Given the description of an element on the screen output the (x, y) to click on. 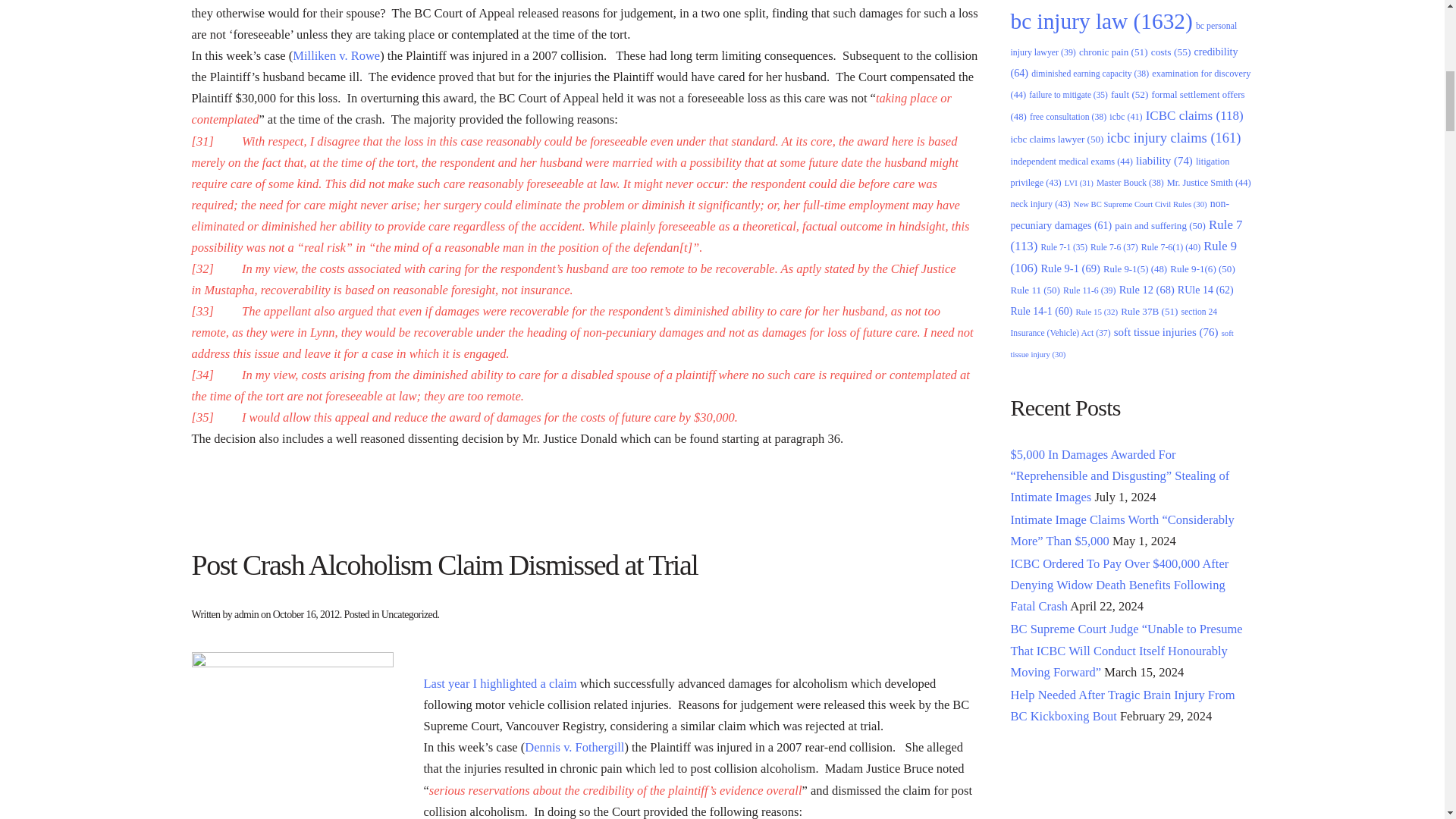
Milliken v. Rowe (336, 55)
admin (246, 614)
Post Crash Alcoholism Claim Dismissed at Trial (443, 564)
Uncategorized (409, 614)
Last year I highlighted a claim (499, 683)
BC Injury law post collision alcoholism (291, 735)
Dennis v. Fothergill (574, 747)
